Given the description of an element on the screen output the (x, y) to click on. 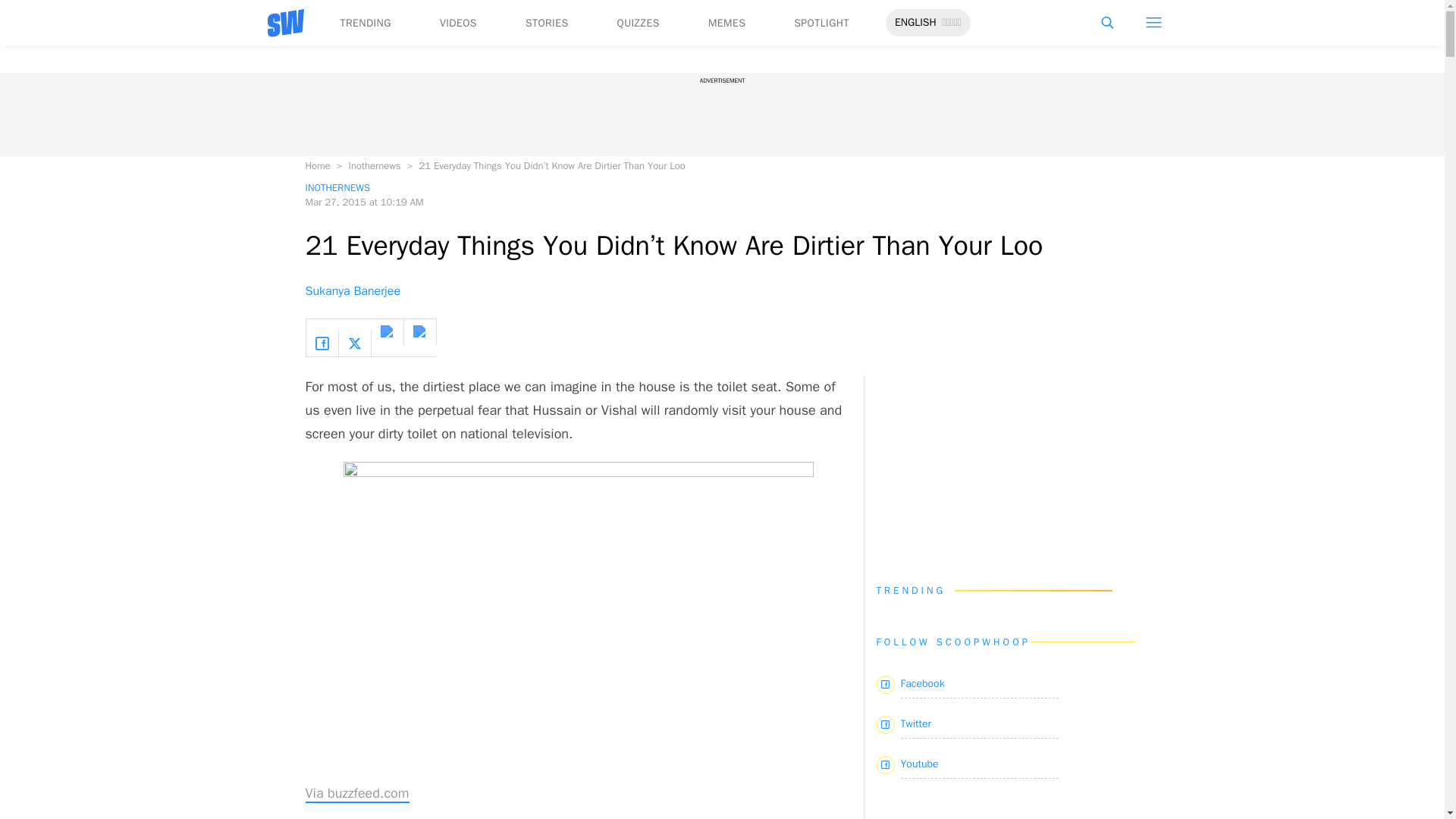
MEMES (726, 22)
QUIZZES (638, 22)
SPOTLIGHT (820, 22)
TRENDING (364, 22)
ENGLISH (915, 22)
STORIES (547, 22)
VIDEOS (458, 22)
